Given the description of an element on the screen output the (x, y) to click on. 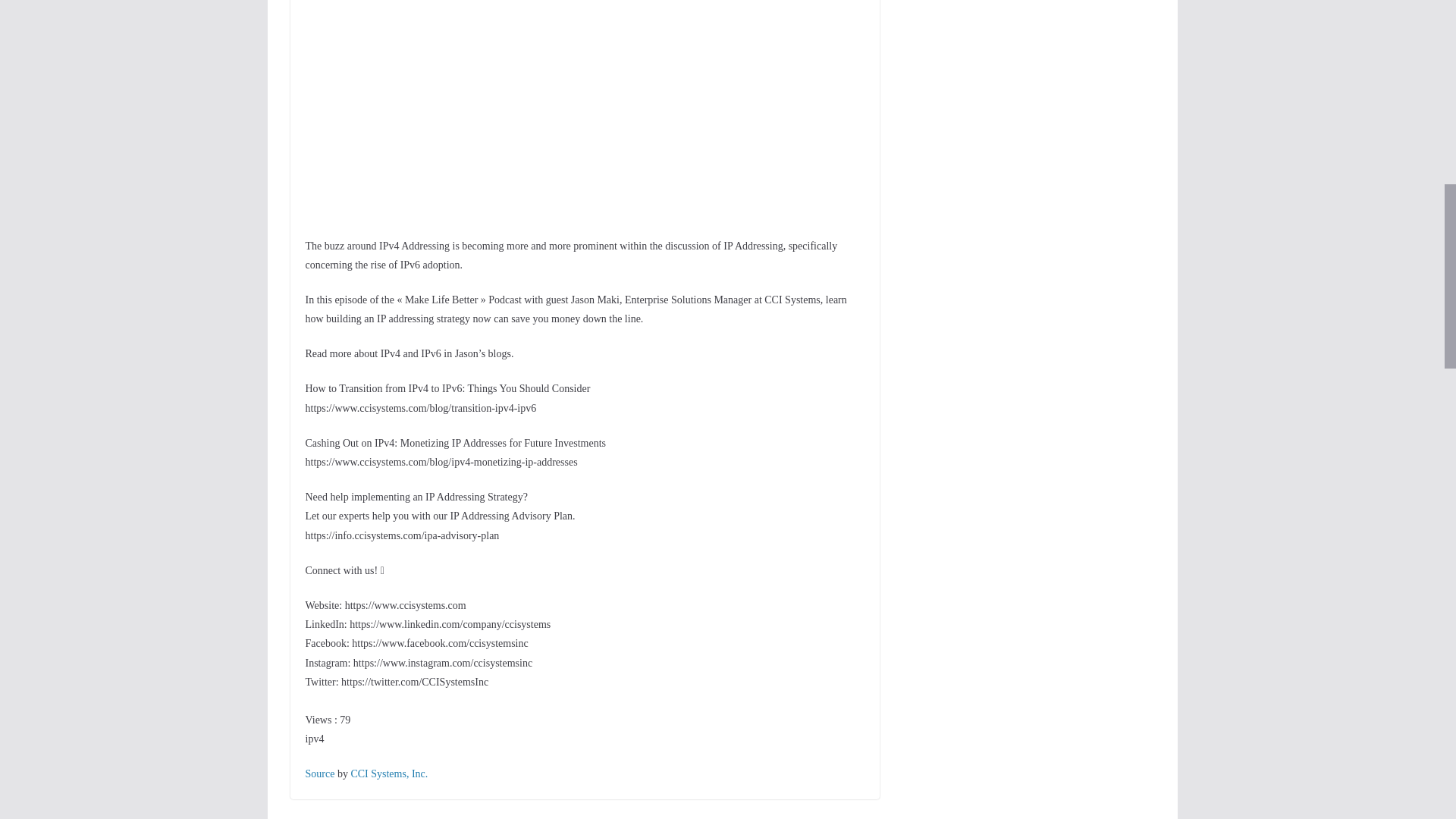
CCI Systems, Inc. (389, 773)
Source (319, 773)
